Given the description of an element on the screen output the (x, y) to click on. 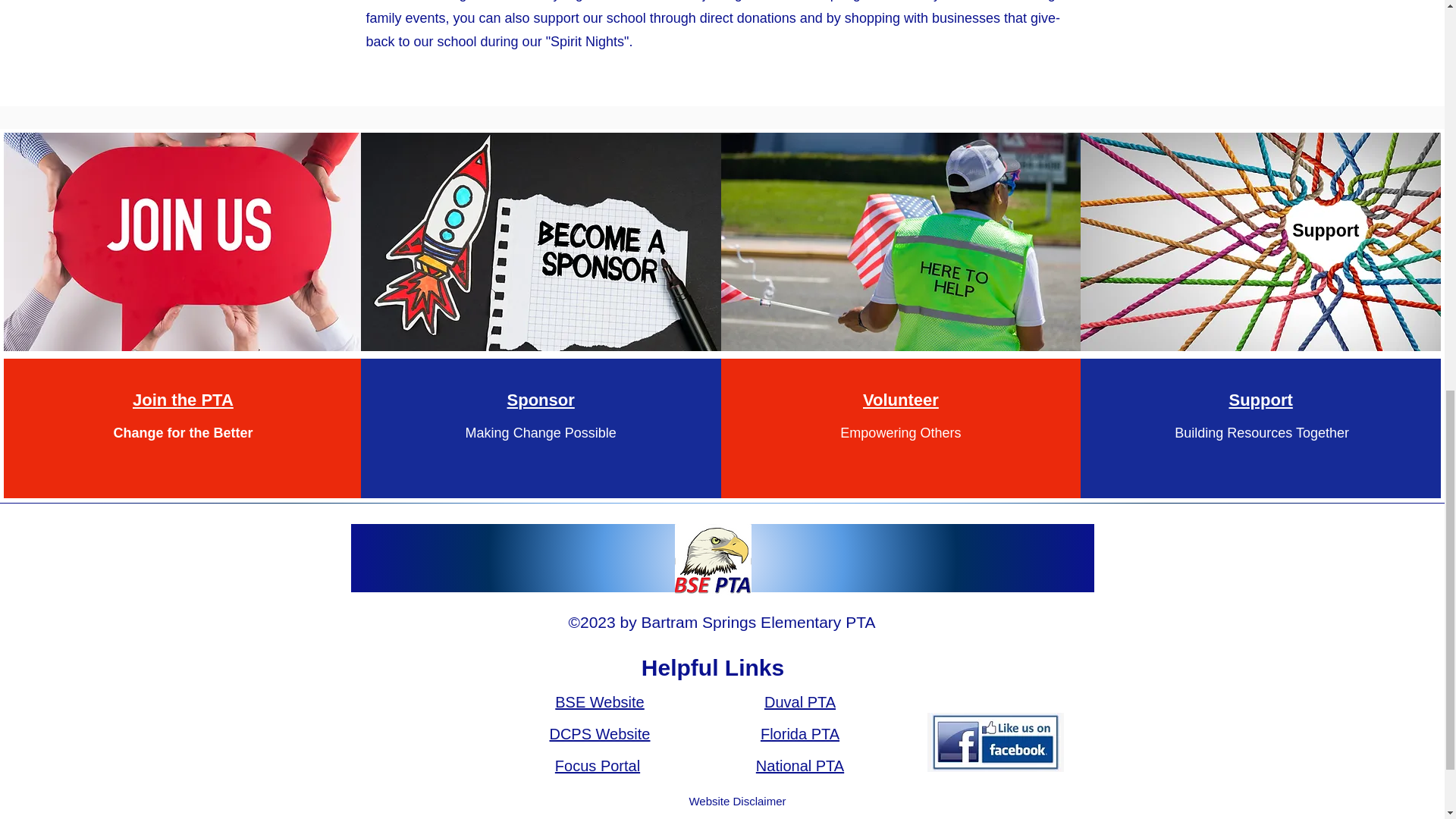
DCPS Website (598, 733)
Florida PTA (800, 733)
Sponsor (540, 398)
Support (1260, 398)
Volunteer (901, 398)
National PTA (799, 765)
Duval PTA (799, 701)
Focus Portal (597, 765)
BSE Website (598, 701)
Join the PTA (182, 398)
